Given the description of an element on the screen output the (x, y) to click on. 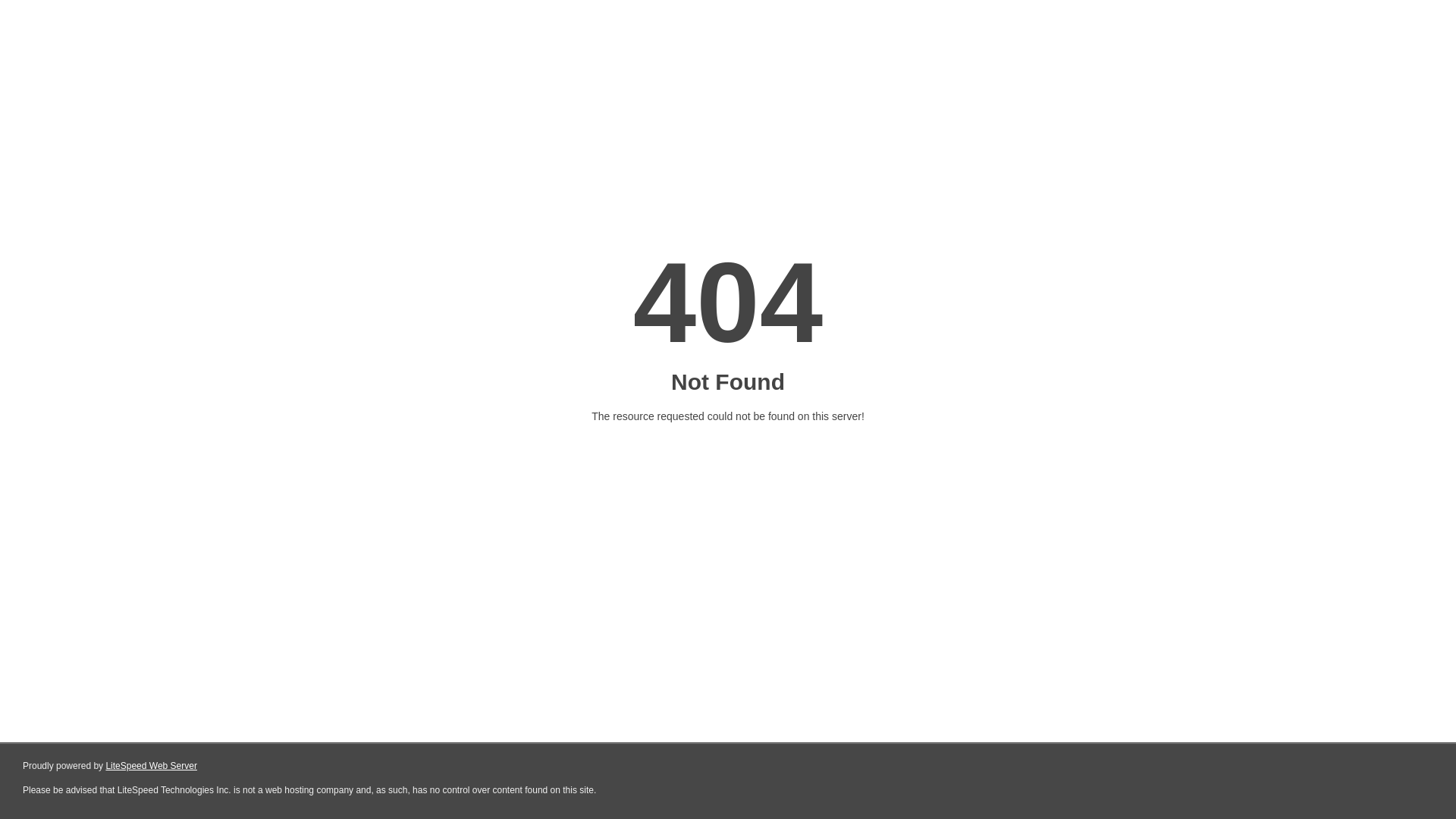
LiteSpeed Web Server Element type: text (151, 765)
